Given the description of an element on the screen output the (x, y) to click on. 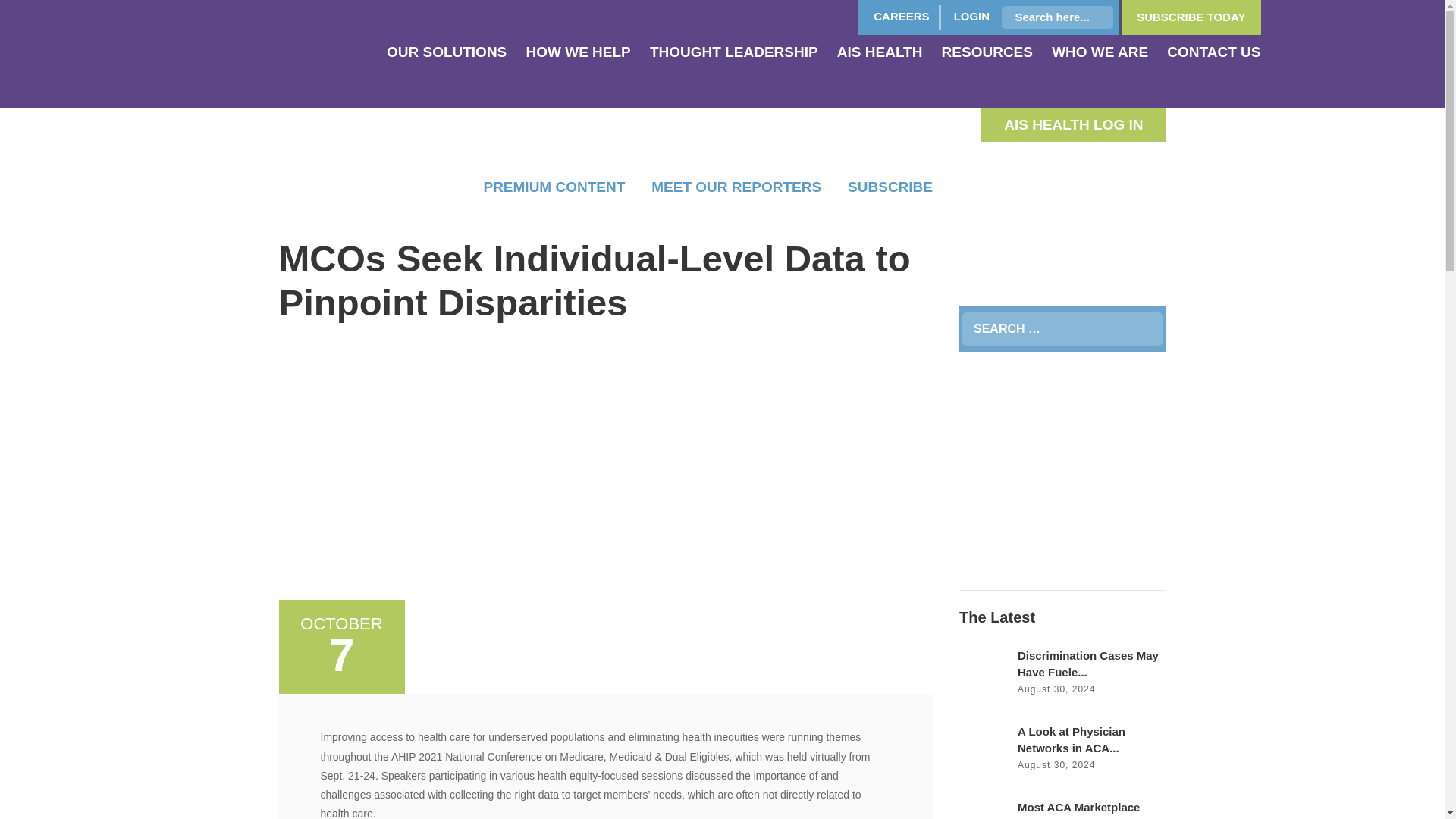
Search (1152, 333)
CAREERS (900, 16)
OUR SOLUTIONS (446, 52)
LOGIN (971, 16)
Search (1152, 333)
SUBSCRIBE TODAY (1190, 17)
